Given the description of an element on the screen output the (x, y) to click on. 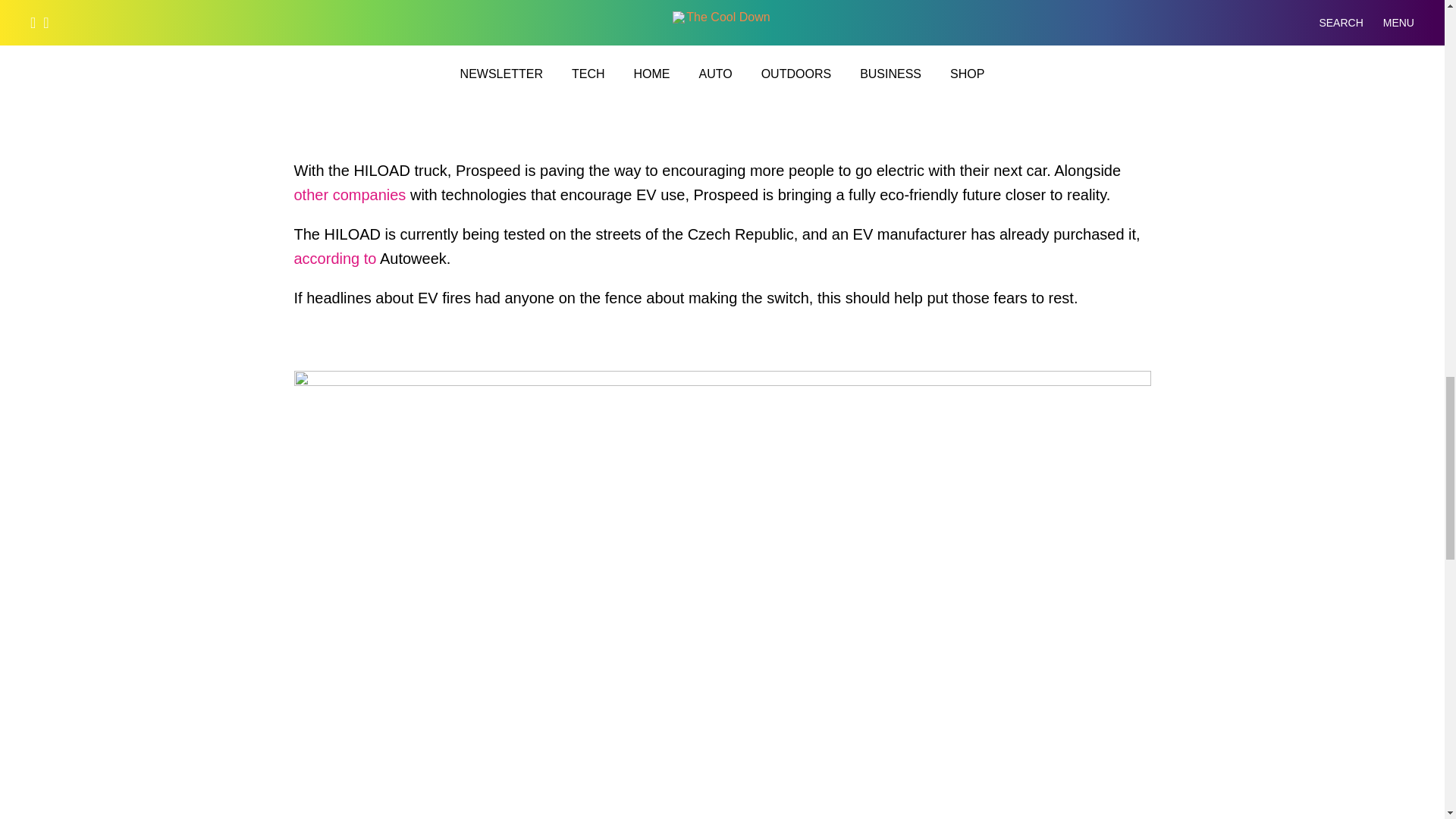
Sign Up (1038, 72)
